Given the description of an element on the screen output the (x, y) to click on. 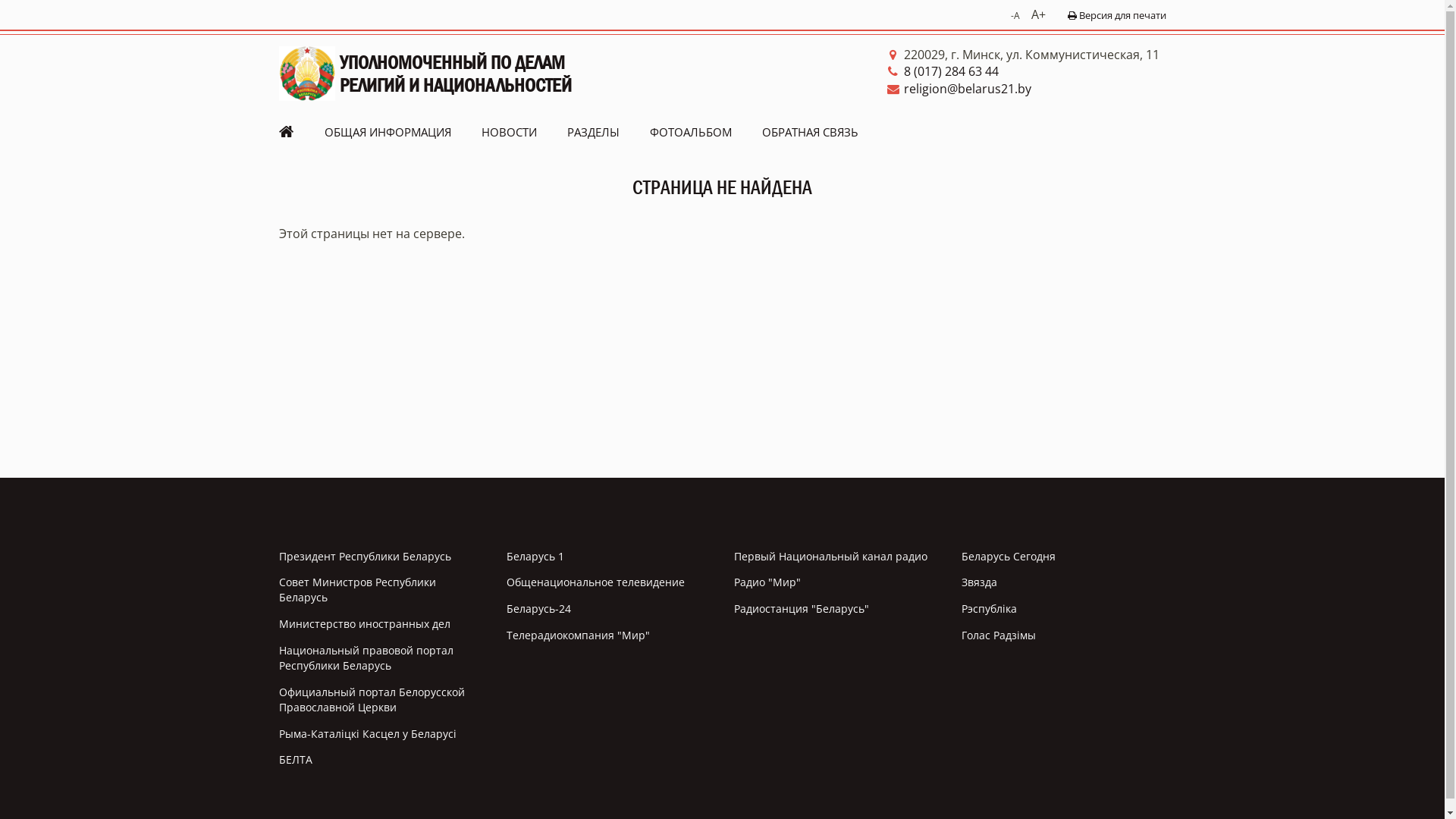
-A Element type: text (1014, 15)
religion@belarus21.by Element type: text (1025, 88)
8 (017) 284 63 44 Element type: text (1025, 71)
